Given the description of an element on the screen output the (x, y) to click on. 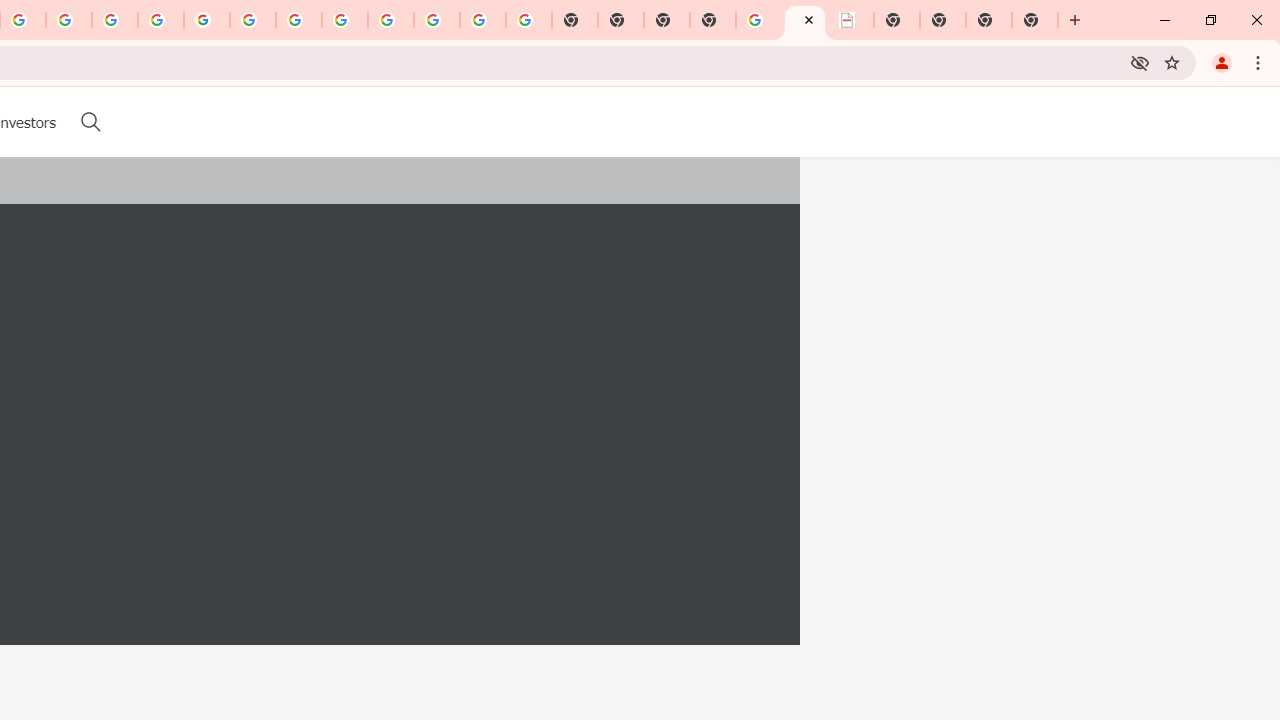
LAAD Defence & Security 2025 | BAE Systems (805, 20)
New Tab (712, 20)
BAE Systems Brasil | BAE Systems (851, 20)
